Given the description of an element on the screen output the (x, y) to click on. 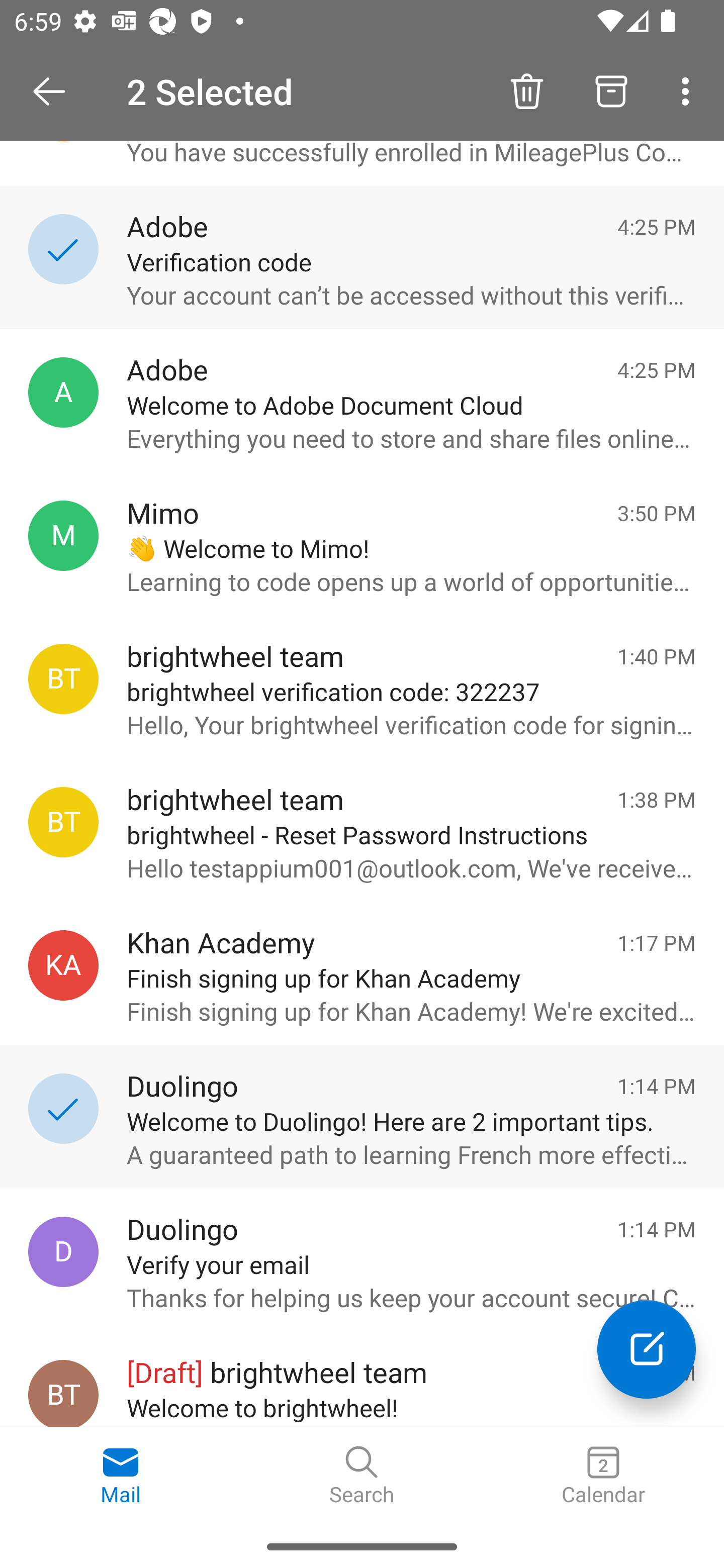
Delete (526, 90)
Archive (611, 90)
More options (688, 90)
Open Navigation Drawer (55, 91)
Adobe, message@adobe.com (63, 392)
Mimo, support@getmimo.com (63, 535)
brightwheel team, recovery@mybrightwheel.com (63, 678)
brightwheel team, recovery@mybrightwheel.com (63, 822)
Khan Academy, no-reply@khanacademy.org (63, 964)
Duolingo, hello@duolingo.com (63, 1251)
Compose (646, 1348)
brightwheel team, welcome@mybrightwheel.com (63, 1392)
Search (361, 1475)
Calendar (603, 1475)
